Given the description of an element on the screen output the (x, y) to click on. 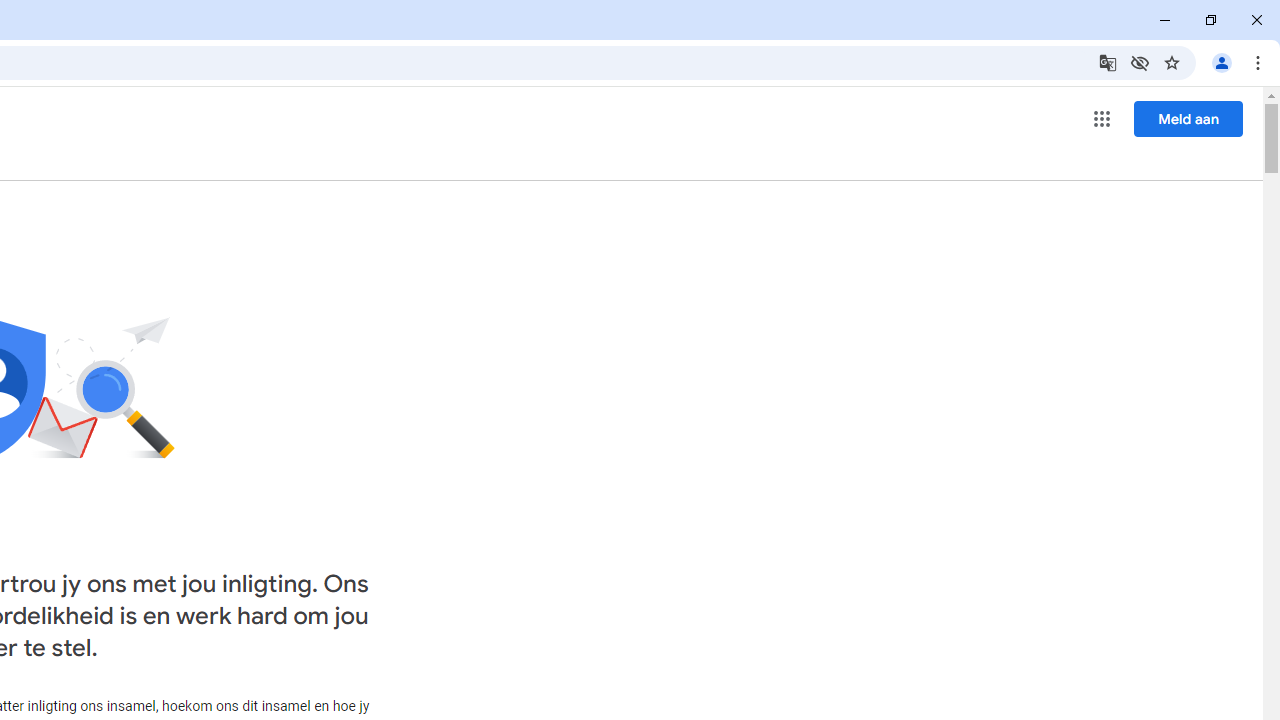
Settings (139, 263)
Update Index (156, 161)
Accessibility Assistant (1249, 321)
Update Table (404, 161)
Mark Citation... (292, 161)
Stop (190, 263)
